Given the description of an element on the screen output the (x, y) to click on. 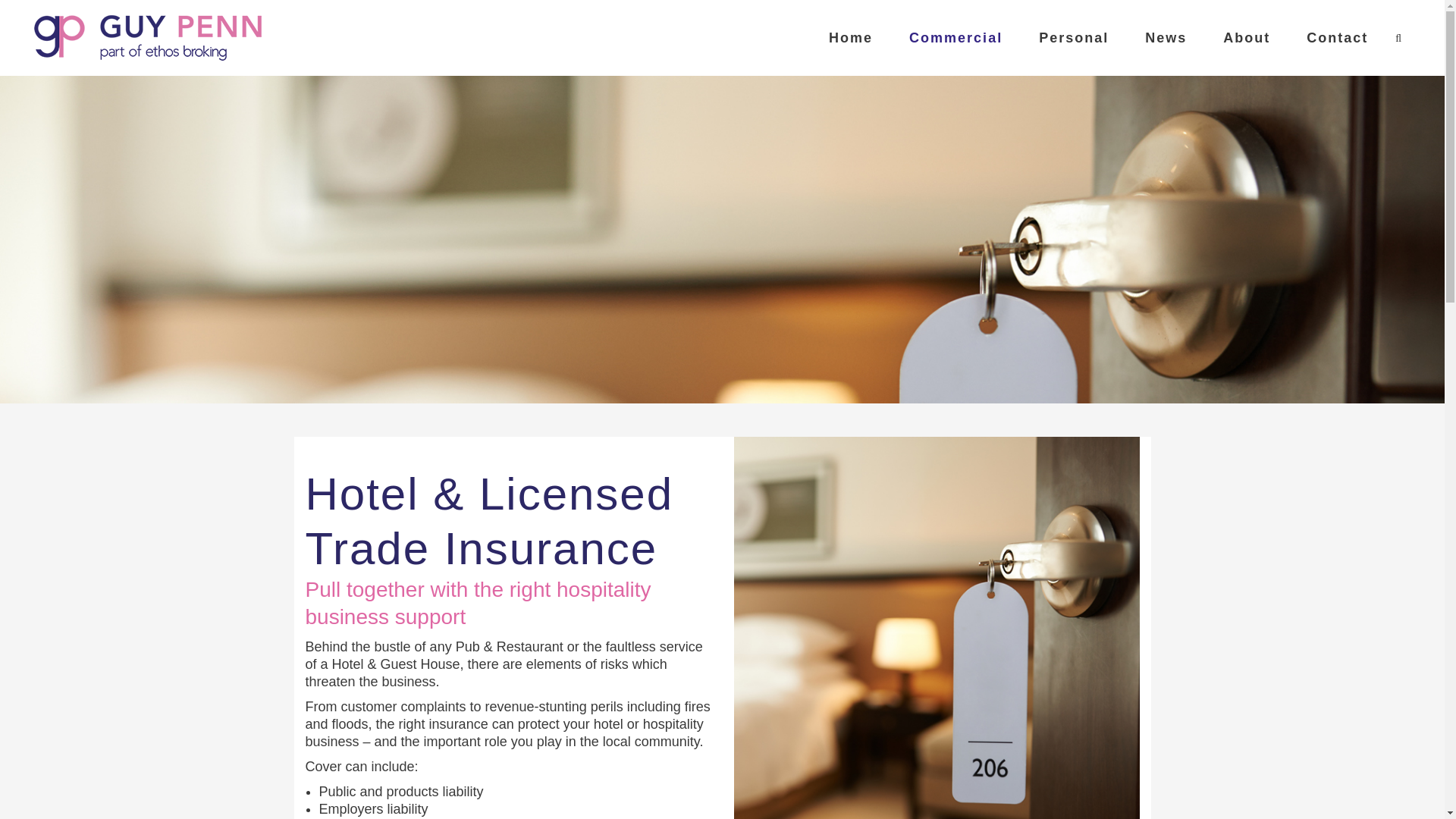
Contact (1337, 38)
Commercial (955, 38)
Personal (1073, 38)
Home (850, 38)
About (1246, 38)
News (1165, 38)
